Given the description of an element on the screen output the (x, y) to click on. 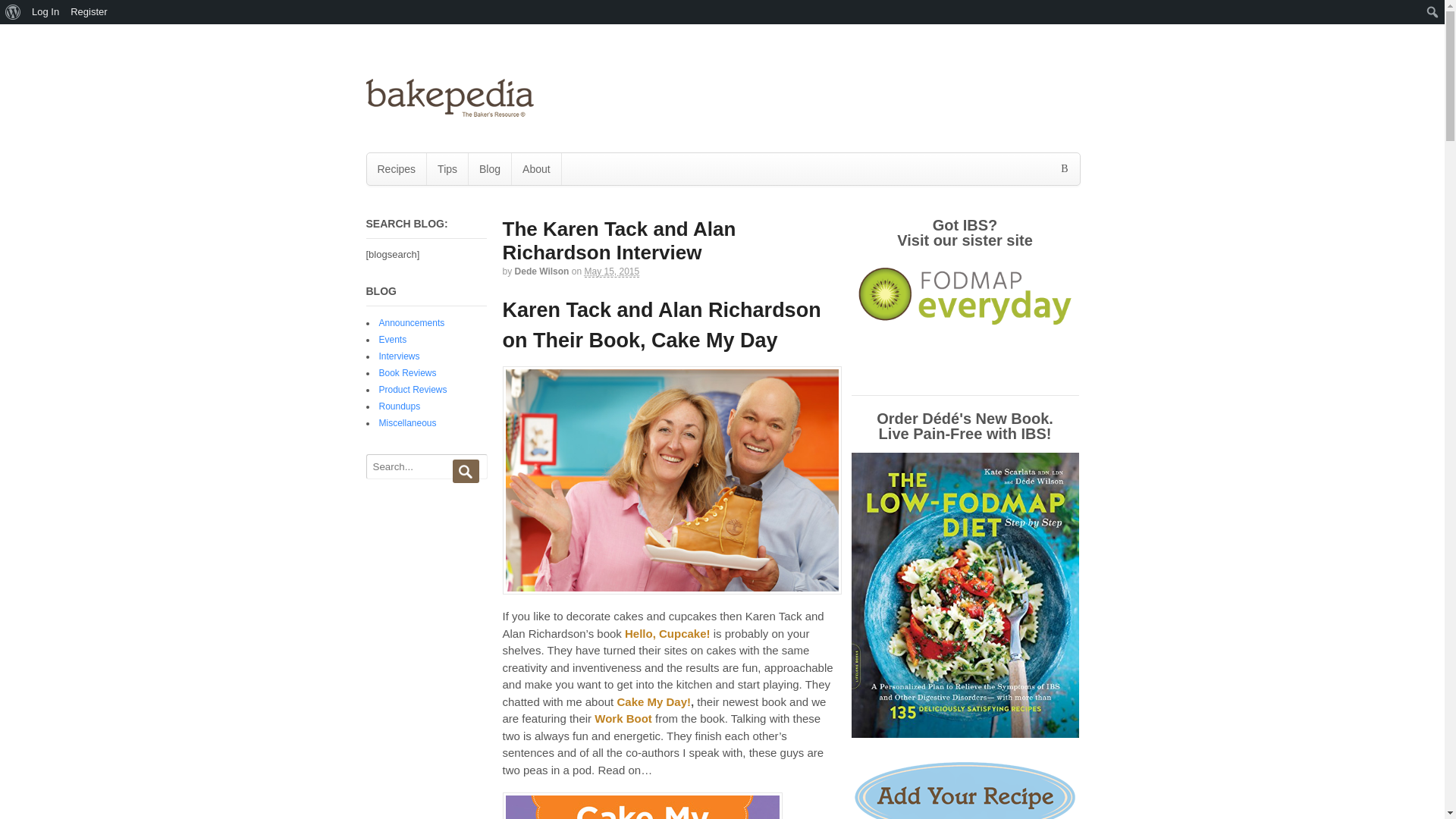
The Baker's Resource (448, 110)
Product Reviews (412, 389)
Recipes (396, 169)
Posts by Dede Wilson (542, 271)
About (536, 169)
Roundups (399, 406)
Search... (423, 466)
Work Boot (623, 717)
Hello, Cupcake! (667, 633)
Blog (489, 169)
